Given the description of an element on the screen output the (x, y) to click on. 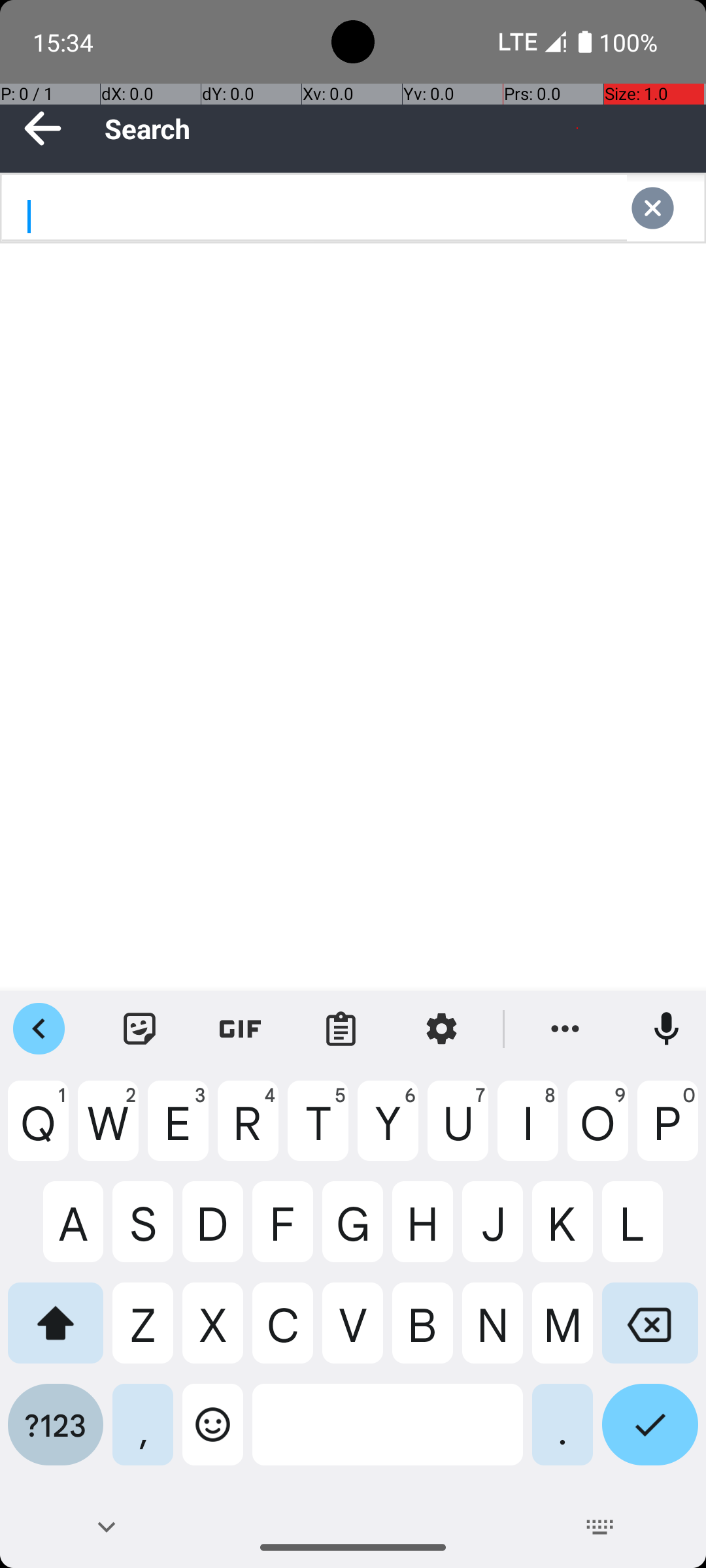
 Element type: android.widget.TextView (665, 207)
